Given the description of an element on the screen output the (x, y) to click on. 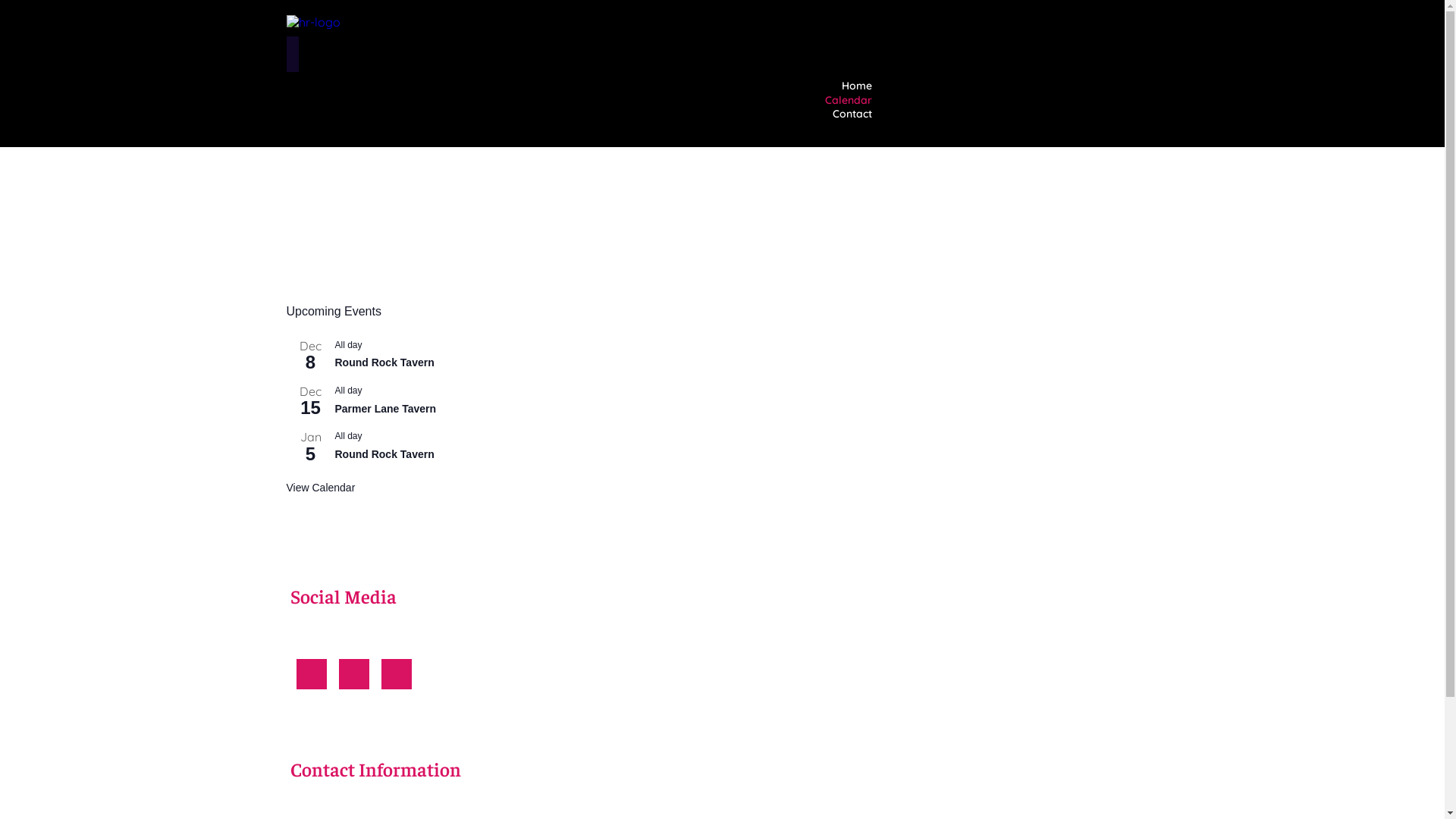
View Calendar Element type: text (320, 487)
Parmer Lane Tavern Element type: text (385, 408)
HR-logo-whitetransparent Element type: hover (313, 21)
Round Rock Tavern Element type: text (384, 362)
Calendar Element type: text (847, 99)
Contact Element type: text (851, 113)
Round Rock Tavern Element type: text (384, 454)
Home Element type: text (855, 85)
